Given the description of an element on the screen output the (x, y) to click on. 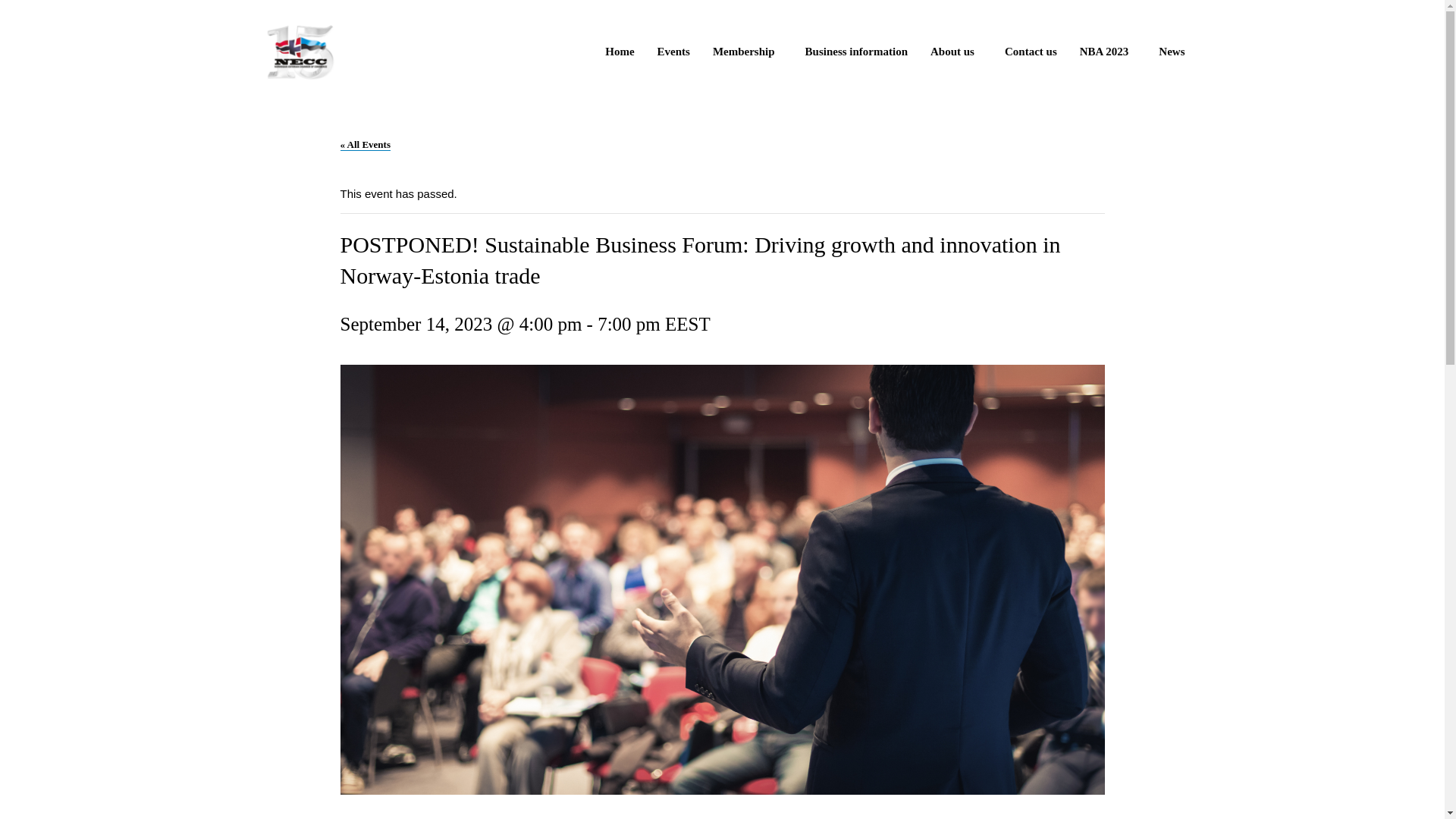
Home (619, 52)
About us (955, 52)
Business information (855, 52)
News (1171, 52)
Events (673, 52)
NBA 2023 (1108, 52)
Contact us (1030, 52)
Membership (747, 52)
